Given the description of an element on the screen output the (x, y) to click on. 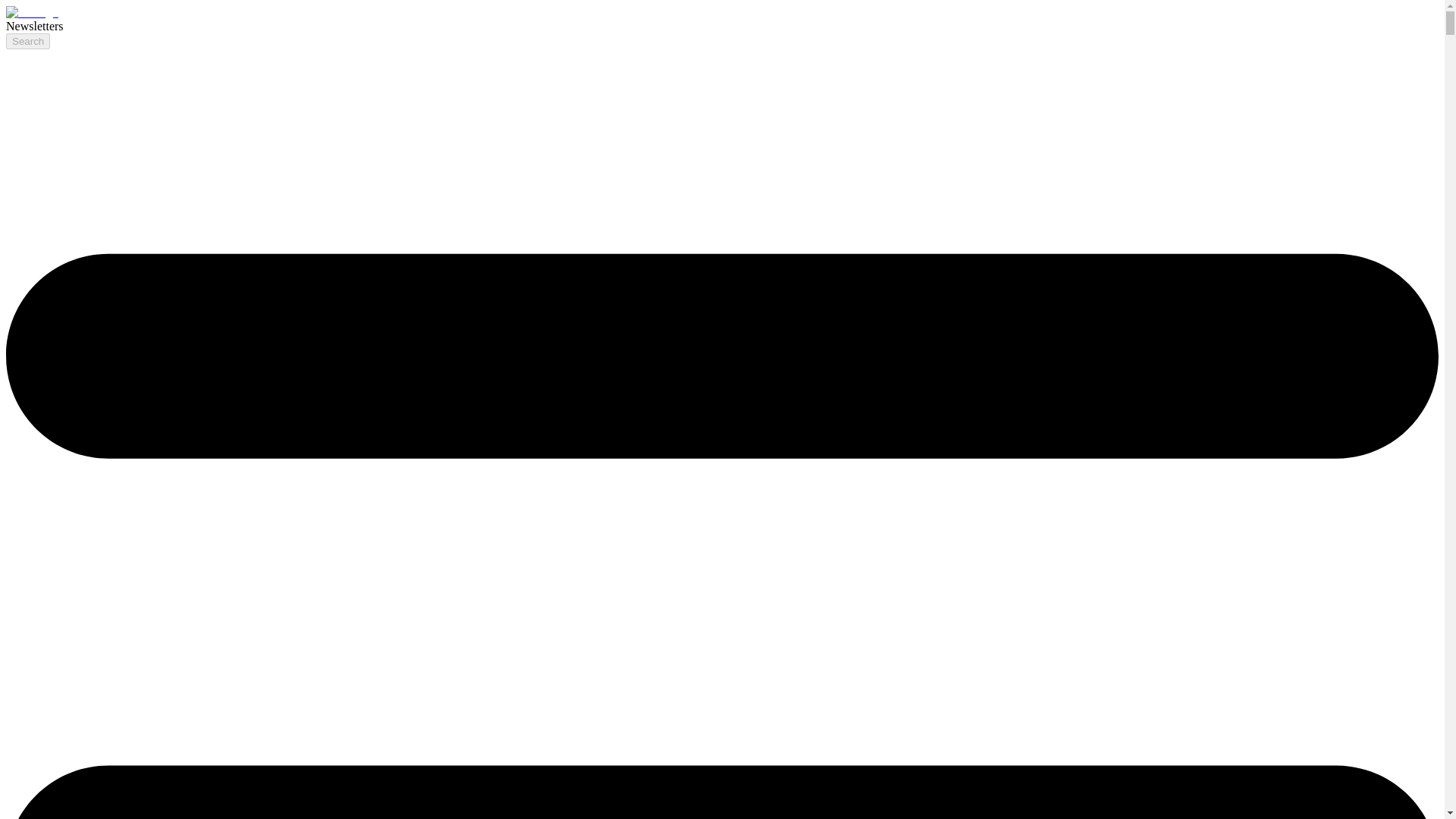
Search (27, 41)
